Given the description of an element on the screen output the (x, y) to click on. 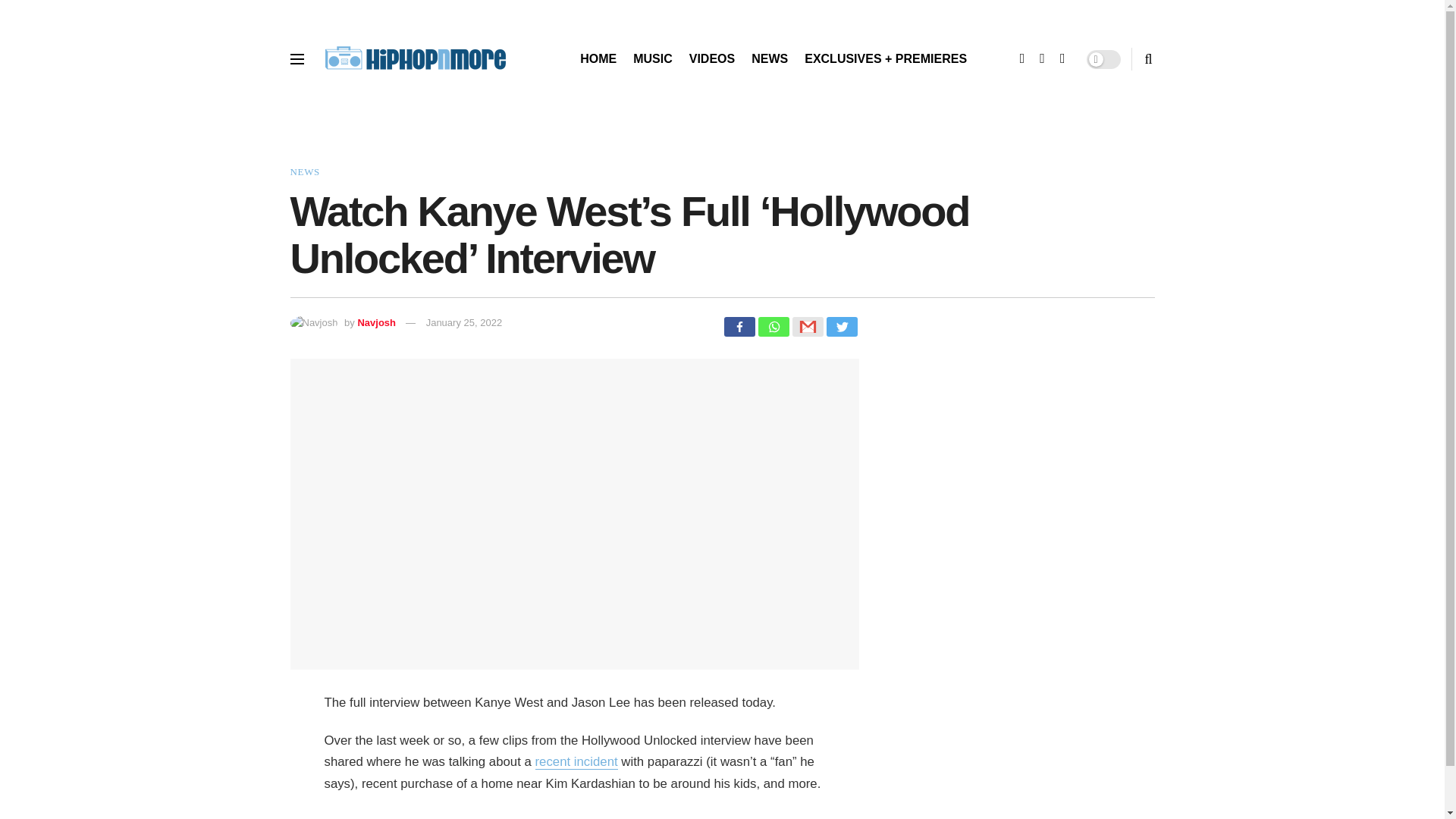
Facebook (738, 326)
VIDEOS (711, 58)
NEWS (769, 58)
Google Gmail (807, 326)
MUSIC (652, 58)
Twitter (842, 326)
NEWS (303, 171)
HOME (597, 58)
January 25, 2022 (464, 322)
Navjosh (376, 322)
Whatsapp (773, 326)
